Given the description of an element on the screen output the (x, y) to click on. 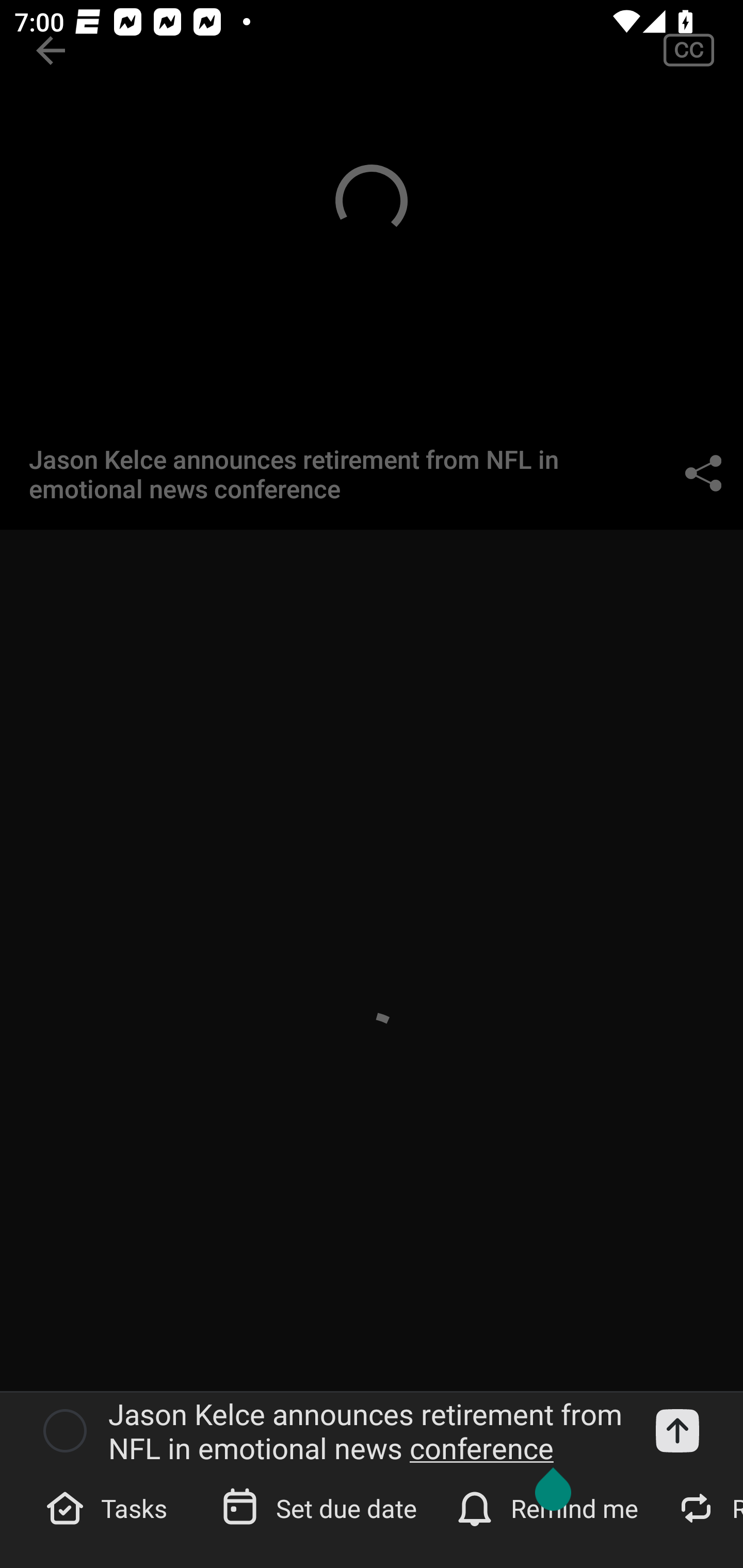
Add a task (676, 1430)
Tasks (108, 1507)
Set due date (321, 1507)
Remind me (548, 1507)
Repeat (705, 1507)
